Given the description of an element on the screen output the (x, y) to click on. 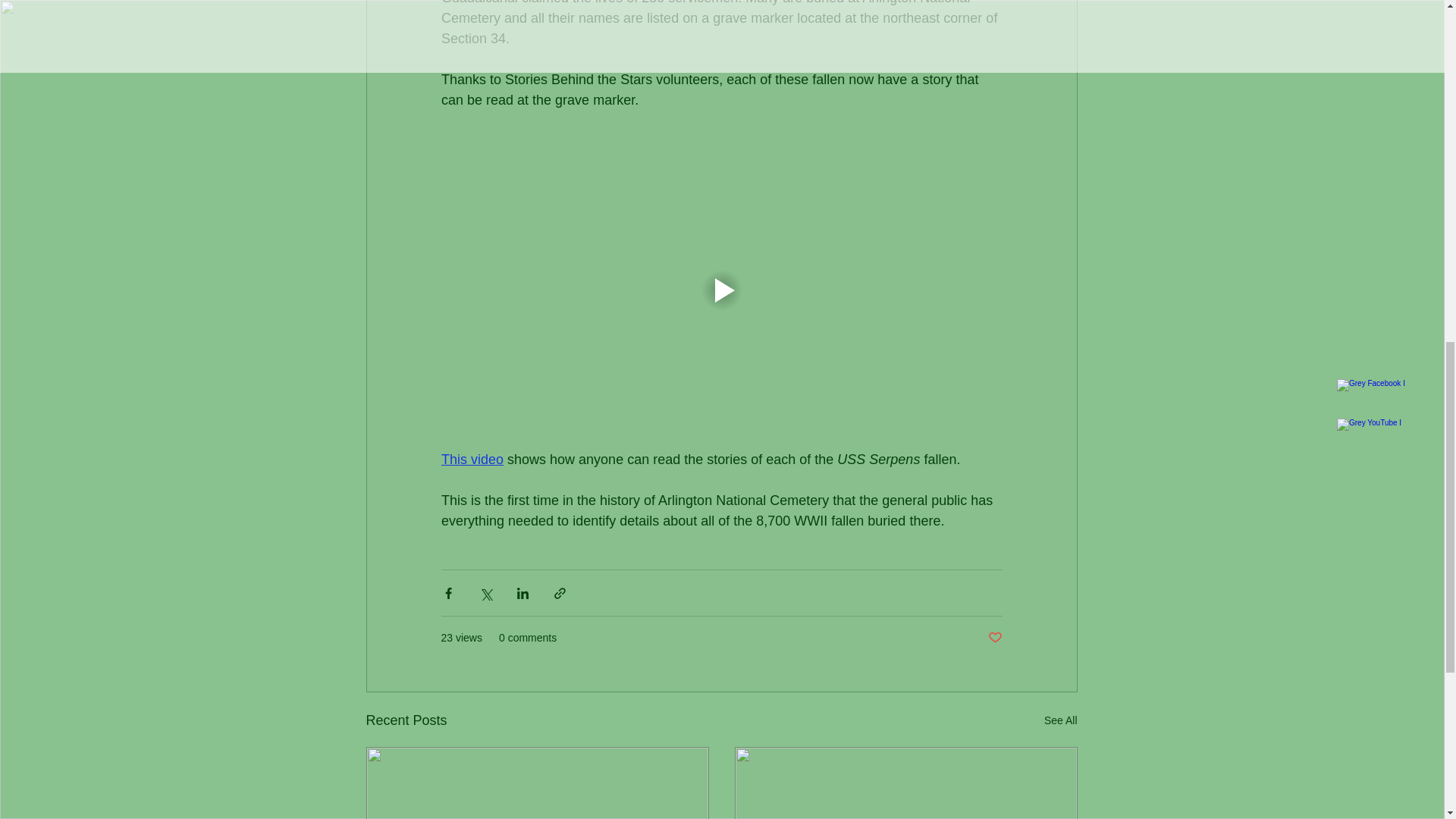
See All (1060, 721)
Post not marked as liked (994, 637)
This video (472, 459)
